Given the description of an element on the screen output the (x, y) to click on. 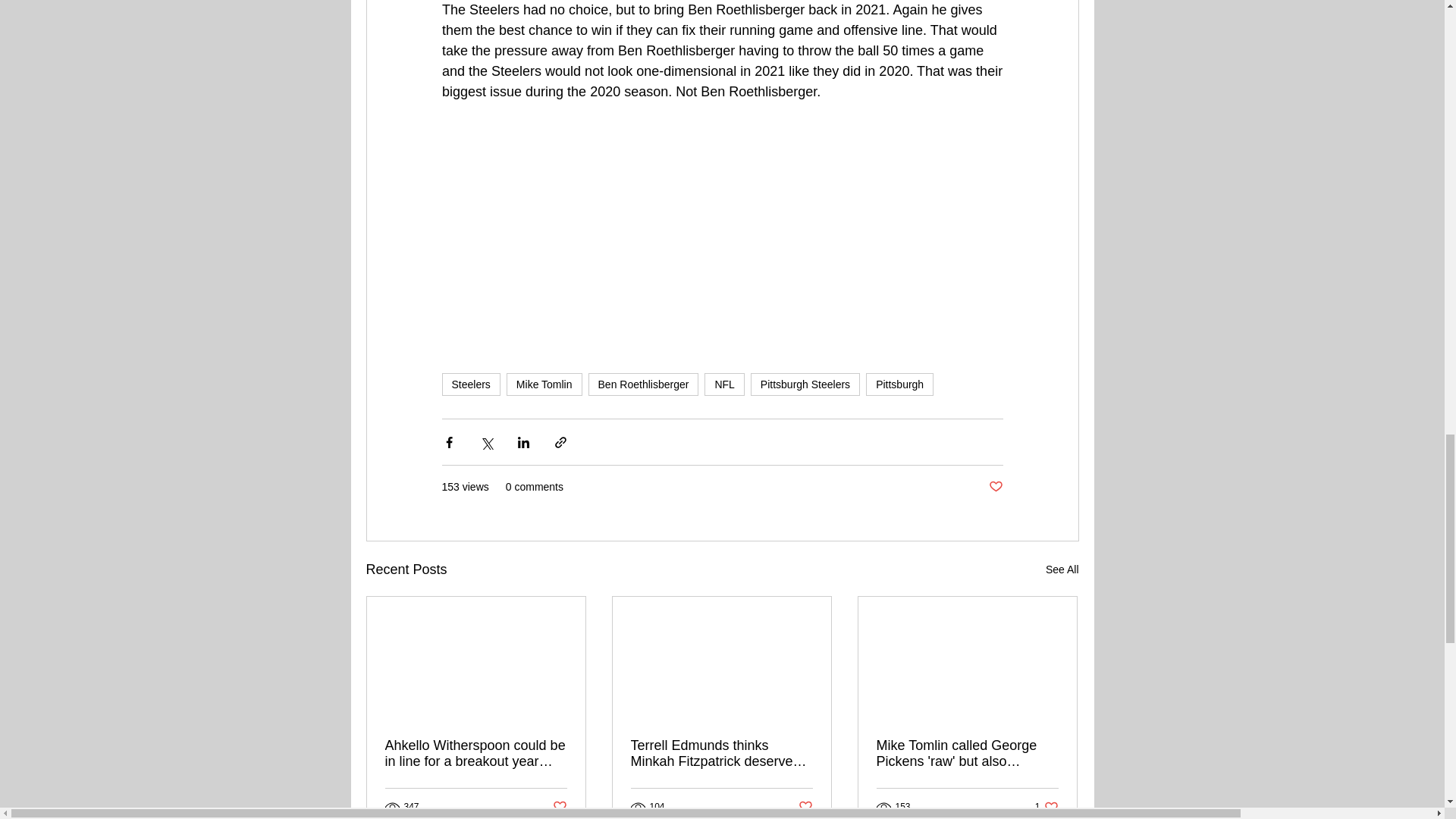
Mike Tomlin (544, 384)
See All (1061, 569)
Post not marked as liked (804, 806)
Pittsburgh (899, 384)
Steelers (470, 384)
Ben Roethlisberger (643, 384)
Post not marked as liked (558, 806)
NFL (724, 384)
Pittsburgh Steelers (805, 384)
